Given the description of an element on the screen output the (x, y) to click on. 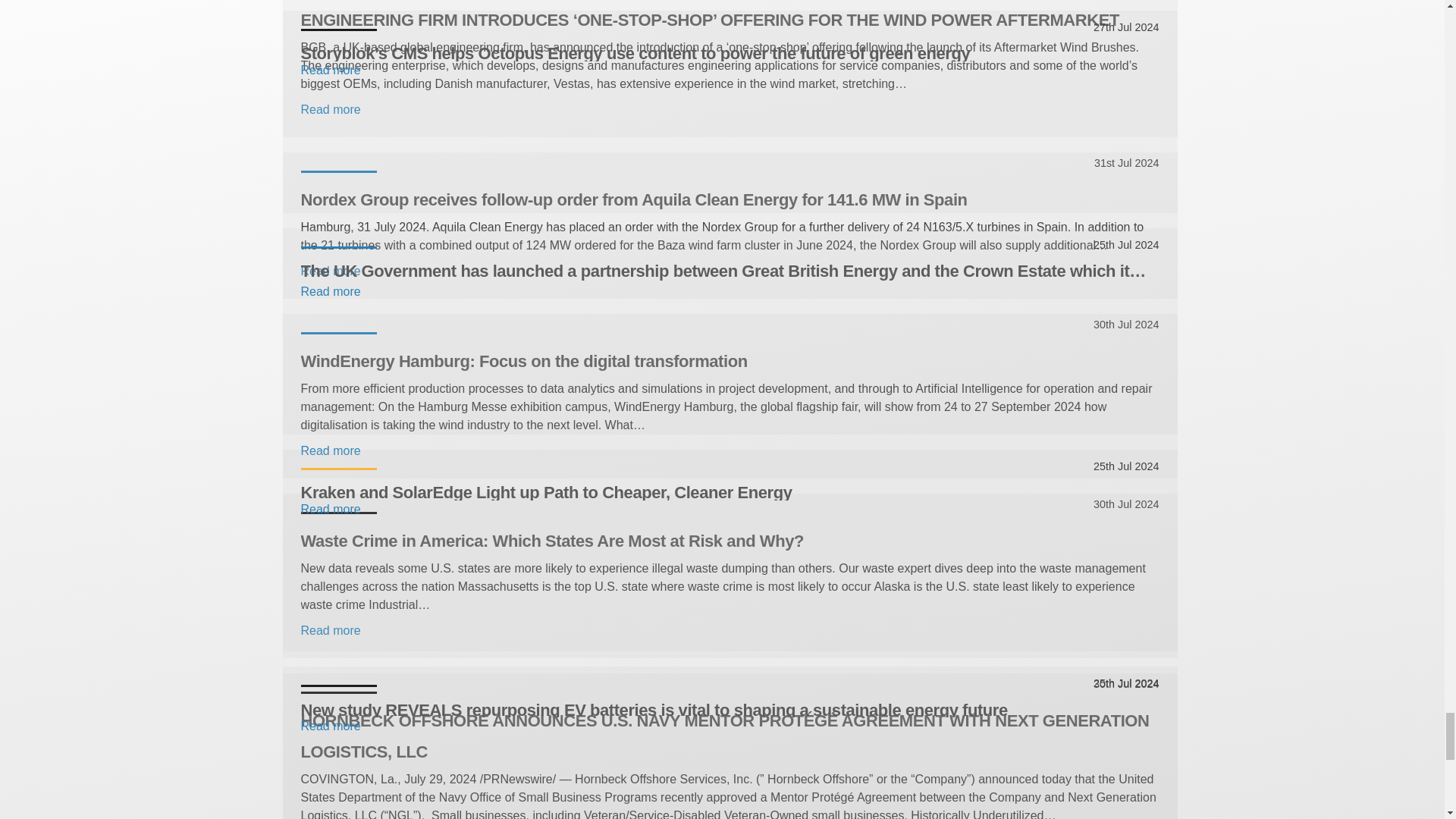
WindEnergy Hamburg: Focus on the digital transformation (728, 360)
